Given the description of an element on the screen output the (x, y) to click on. 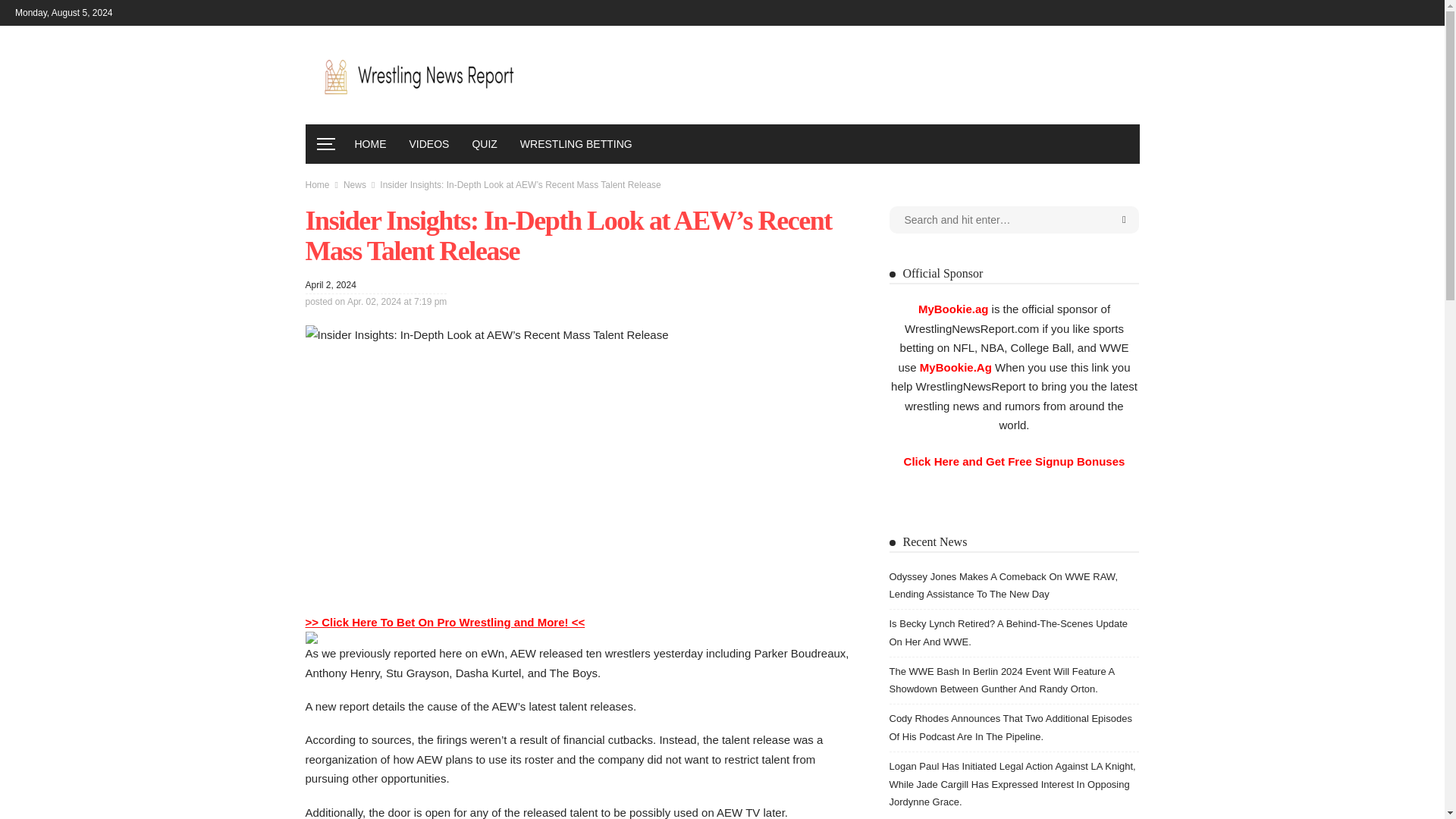
HOME (369, 143)
News (354, 184)
VIDEOS (428, 143)
QUIZ (484, 143)
MyBookie.Ag (955, 367)
Home (316, 184)
WRESTLING BETTING (575, 143)
Home (316, 184)
MyBookie.ag (953, 308)
